Given the description of an element on the screen output the (x, y) to click on. 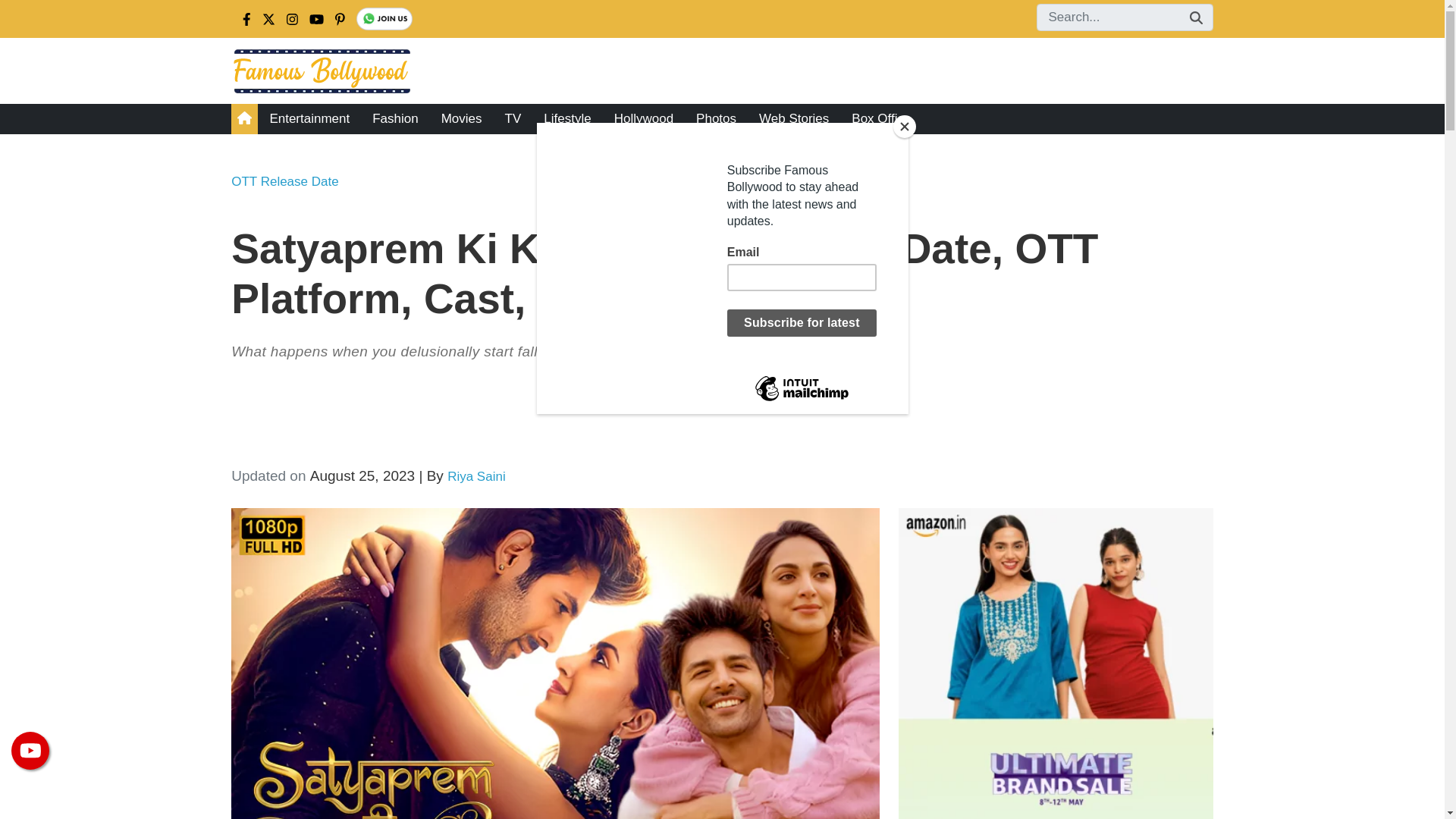
Riya Saini (475, 476)
TV (512, 118)
Box Office (880, 118)
Photos (716, 118)
Hollywood (643, 118)
Advertisement (686, 418)
Search for: (1123, 17)
Lifestyle (567, 118)
Movies (461, 118)
Fashion (395, 118)
Entertainment (309, 118)
Web Stories (794, 118)
OTT Release Date (284, 181)
